Given the description of an element on the screen output the (x, y) to click on. 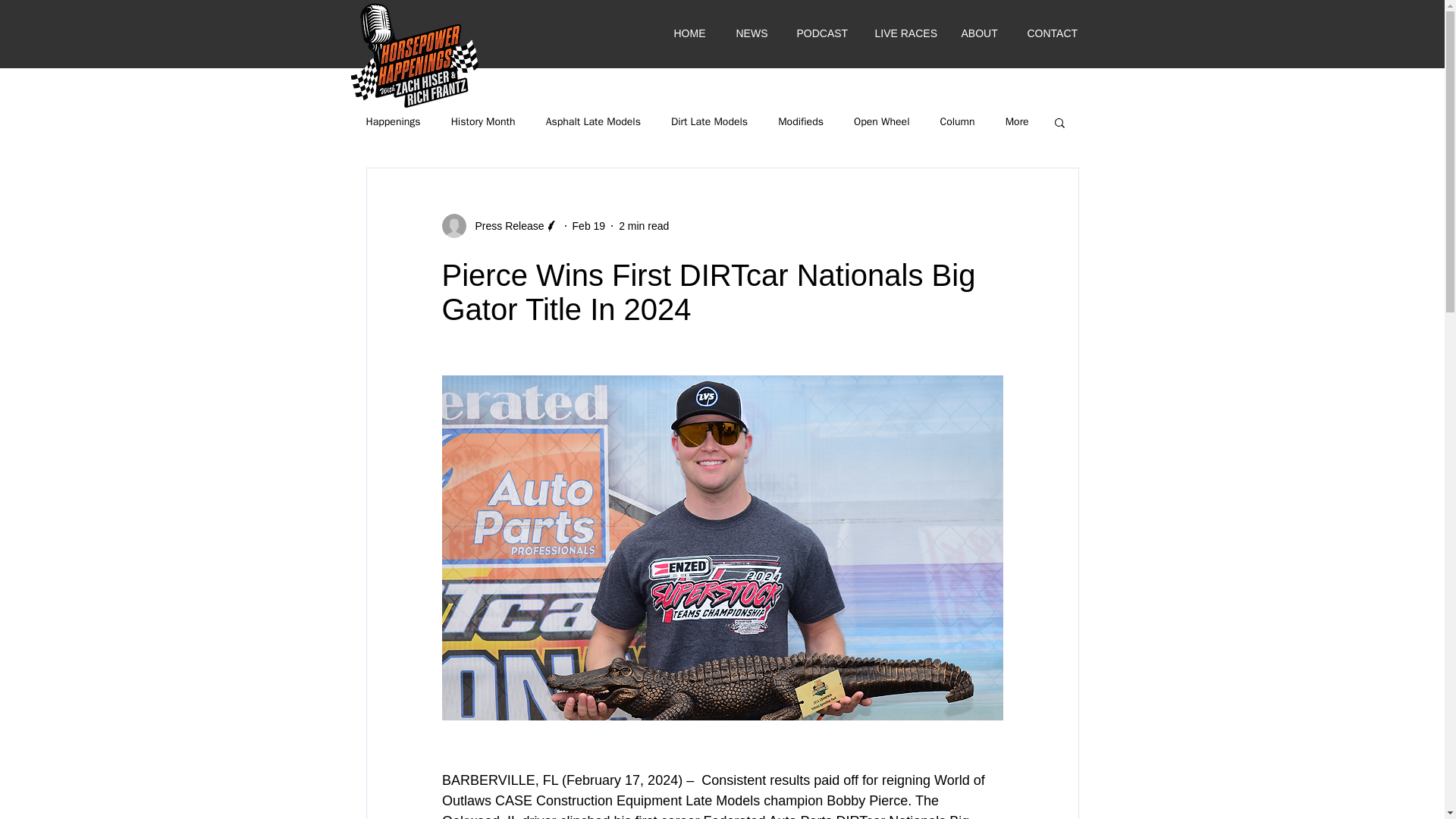
HOME (689, 33)
Open Wheel (881, 121)
PODCAST (819, 33)
More (1017, 121)
LIVE RACES (903, 33)
ABOUT (978, 33)
CONTACT (1050, 33)
Feb 19 (588, 225)
Press Release (504, 226)
Dirt Late Models (709, 121)
